Given the description of an element on the screen output the (x, y) to click on. 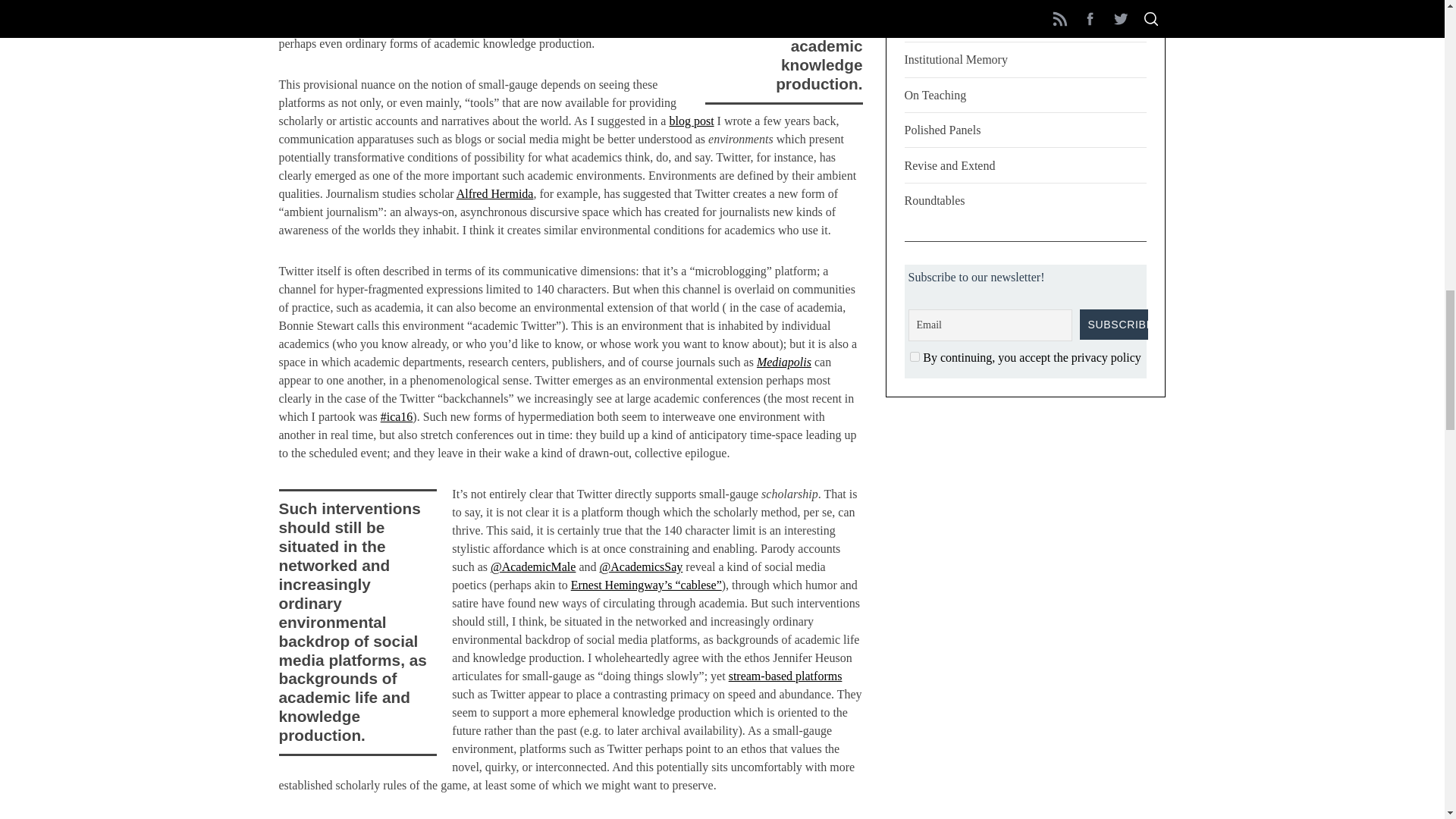
on (915, 356)
Subscribe to our quarterly newsletter! (1114, 324)
